Given the description of an element on the screen output the (x, y) to click on. 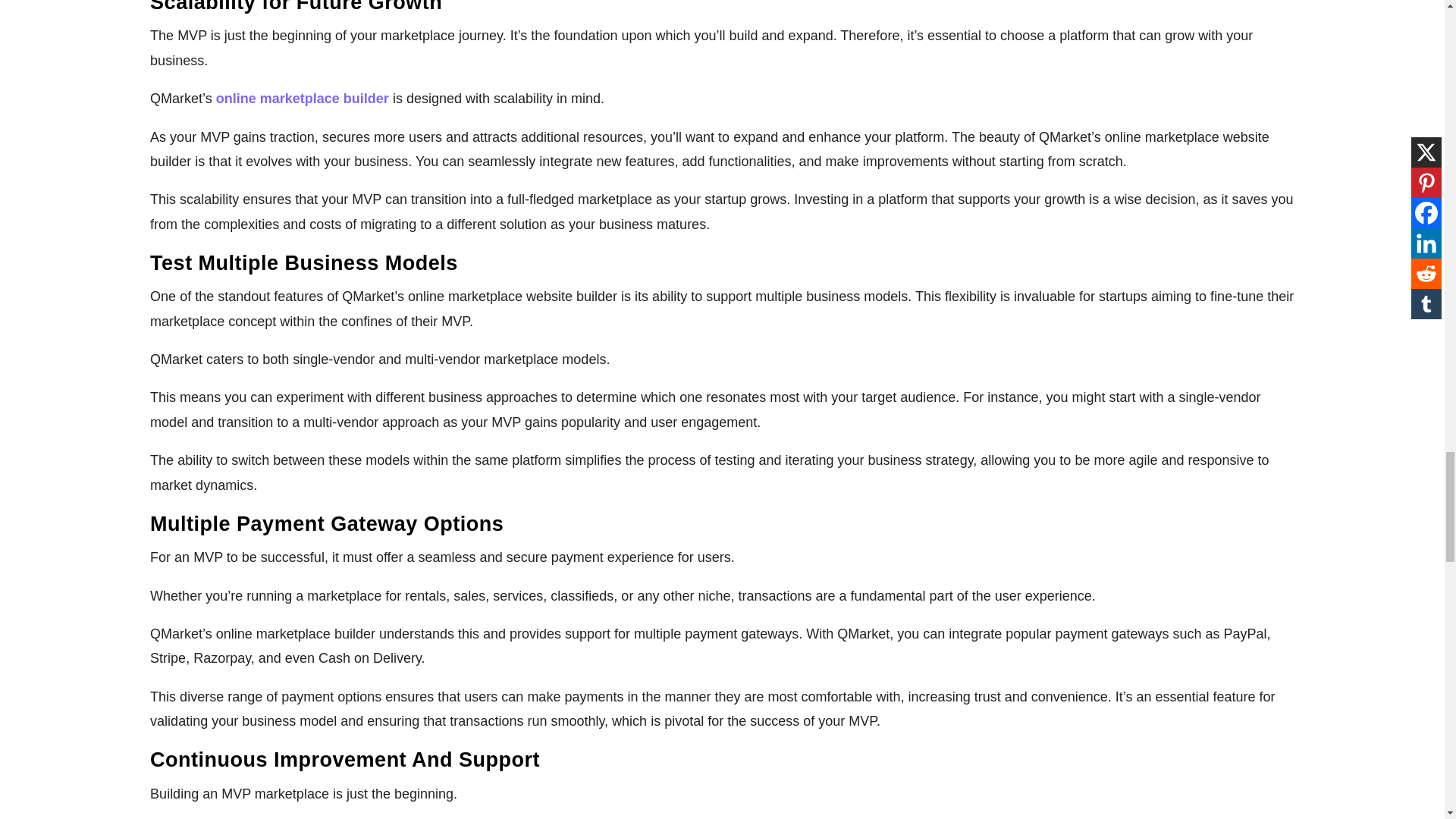
online marketplace builder (301, 98)
